Given the description of an element on the screen output the (x, y) to click on. 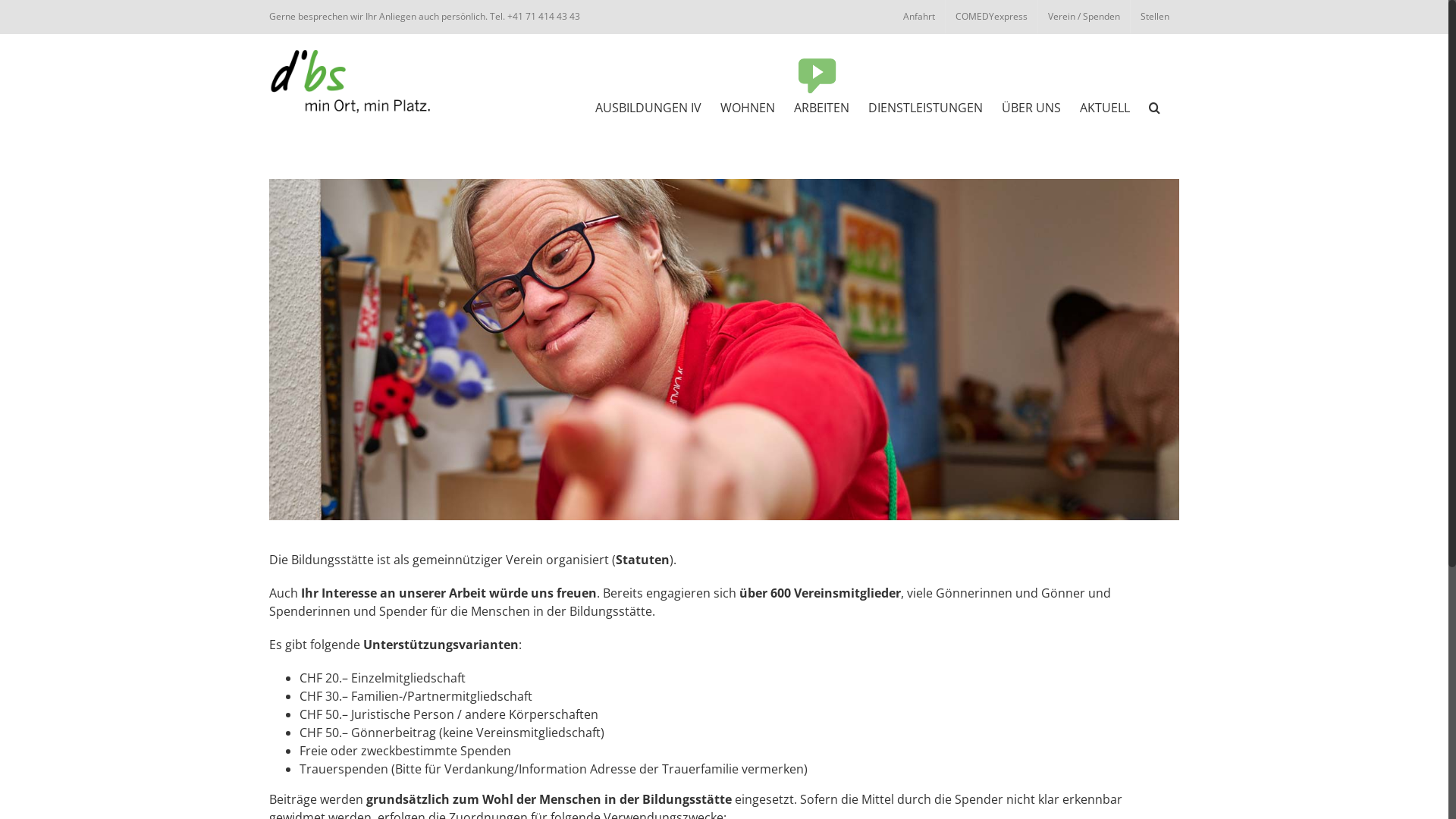
AKTUELL Element type: text (1104, 106)
Anfahrt Element type: text (918, 16)
AUSBILDUNGEN IV Element type: text (648, 106)
ARBEITEN Element type: text (821, 106)
COMEDYexpress Element type: text (991, 16)
DIENSTLEISTUNGEN Element type: text (925, 106)
Verein / Spenden Element type: text (1083, 16)
WOHNEN Element type: text (747, 106)
Stellen Element type: text (1154, 16)
Suche Element type: hover (1154, 106)
